Given the description of an element on the screen output the (x, y) to click on. 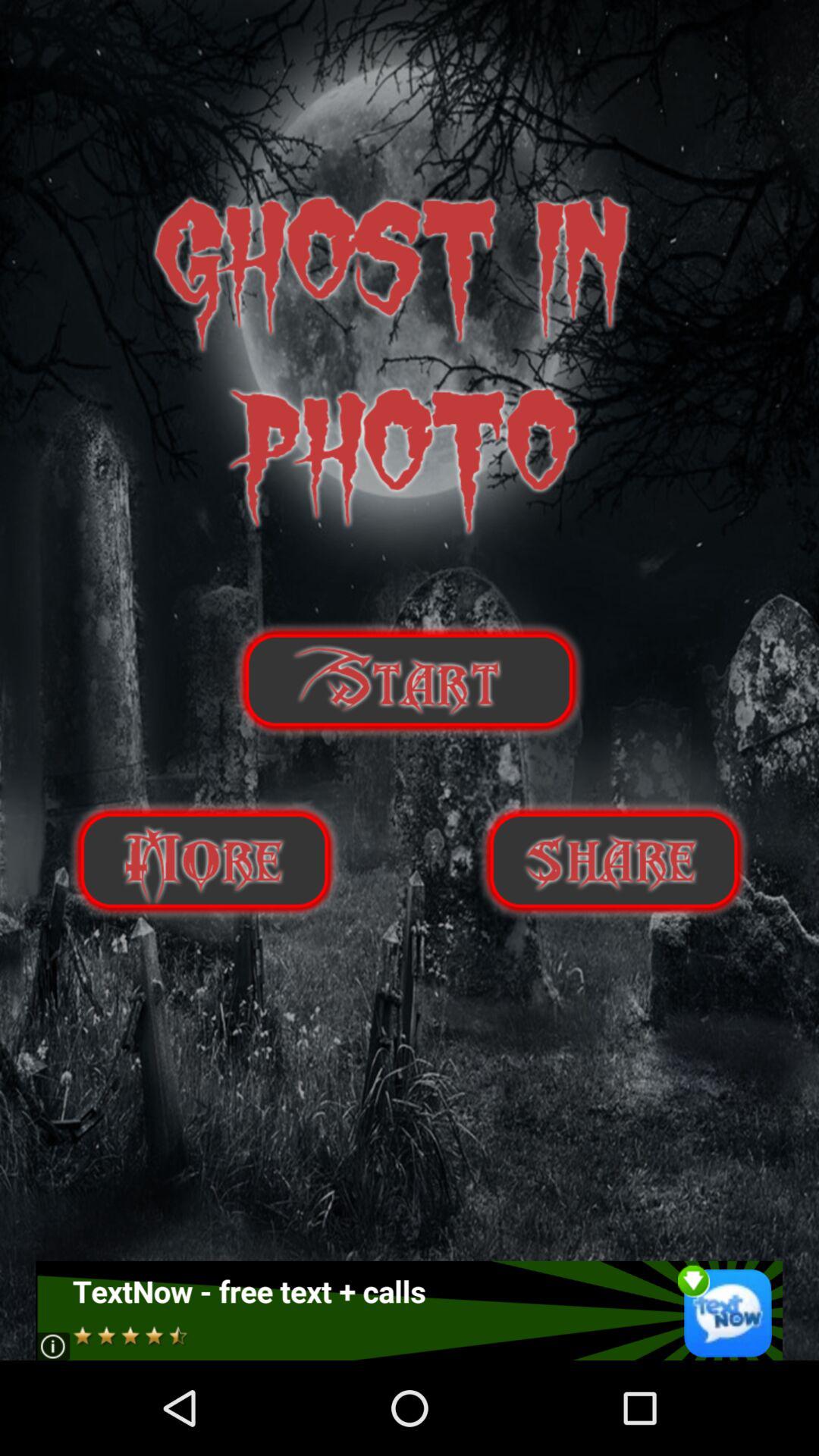
start botton (409, 679)
